Given the description of an element on the screen output the (x, y) to click on. 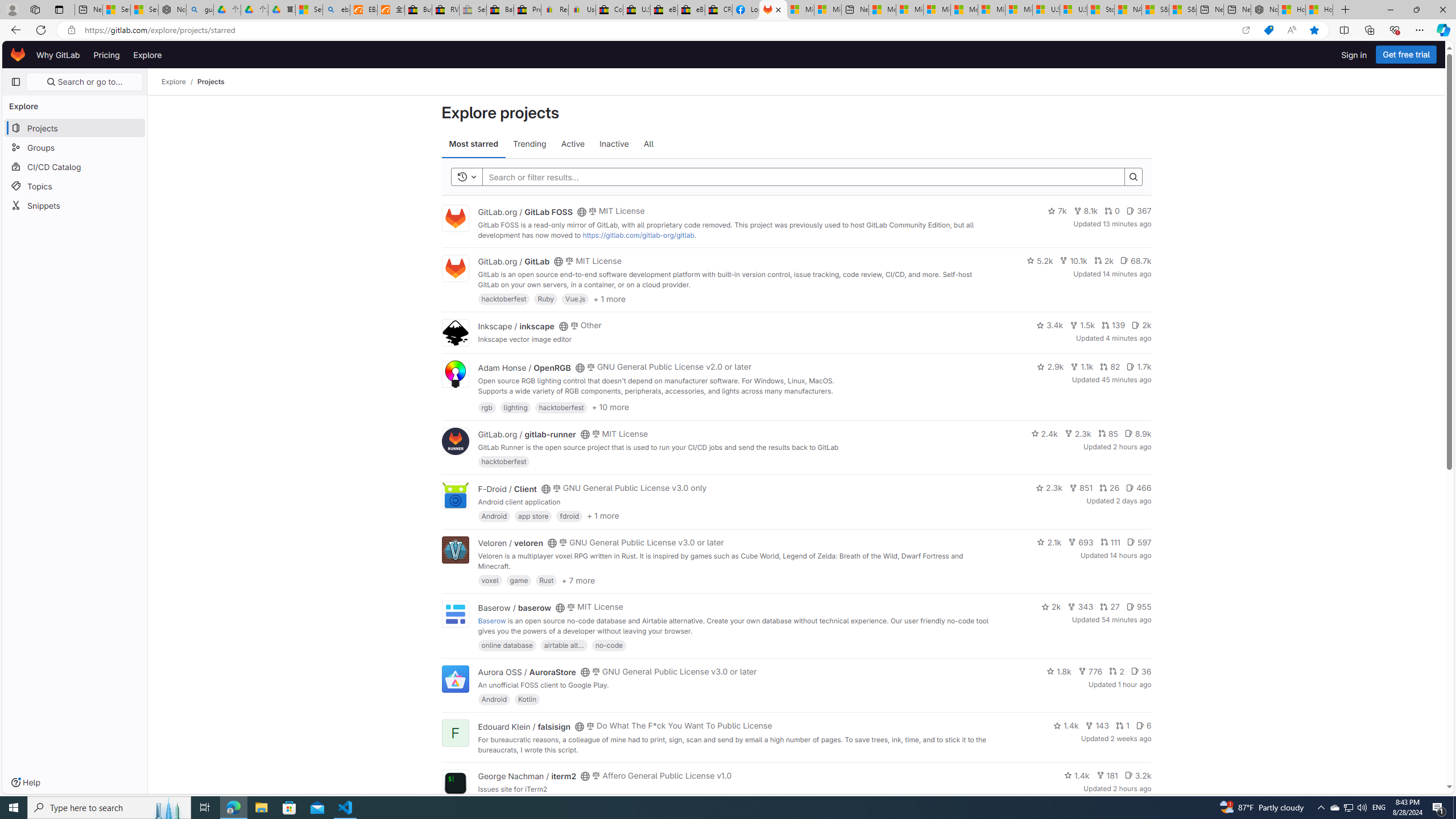
1.4k (1076, 775)
1 (1122, 725)
F-Droid / Client (507, 488)
U.S. State Privacy Disclosures - eBay Inc. (636, 9)
Most starred (473, 143)
https://gitlab.com/gitlab-org/gitlab (638, 234)
85 (1107, 433)
How to Use a Monitor With Your Closed Laptop (1319, 9)
eBay Inc. Reports Third Quarter 2023 Results (691, 9)
guge yunpan - Search (200, 9)
